Given the description of an element on the screen output the (x, y) to click on. 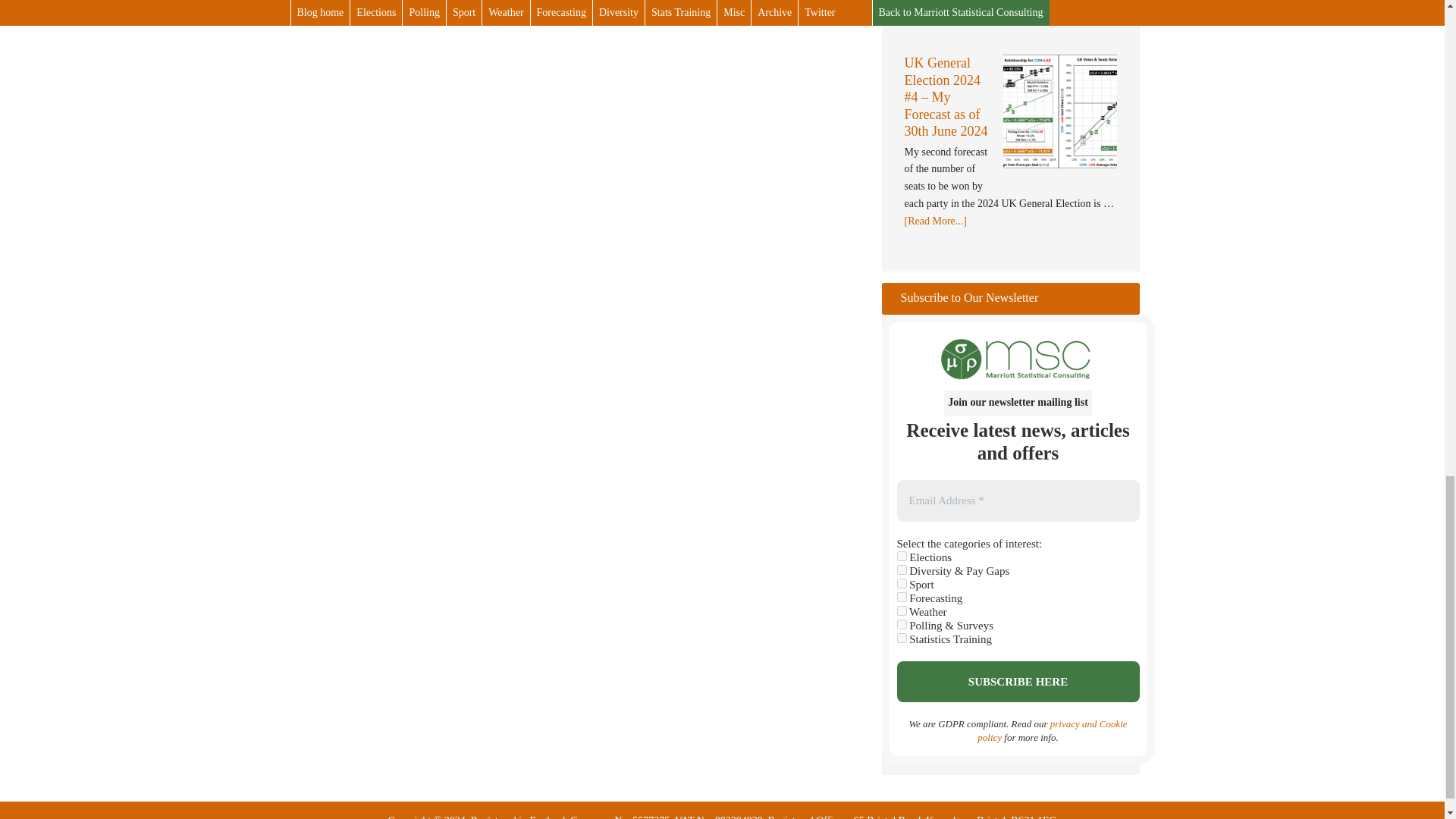
SUBSCRIBE HERE (1017, 681)
9 (900, 610)
15 (900, 637)
6 (900, 596)
7 (900, 623)
Email Address (1017, 500)
8 (900, 583)
5 (900, 555)
4 (900, 569)
